Given the description of an element on the screen output the (x, y) to click on. 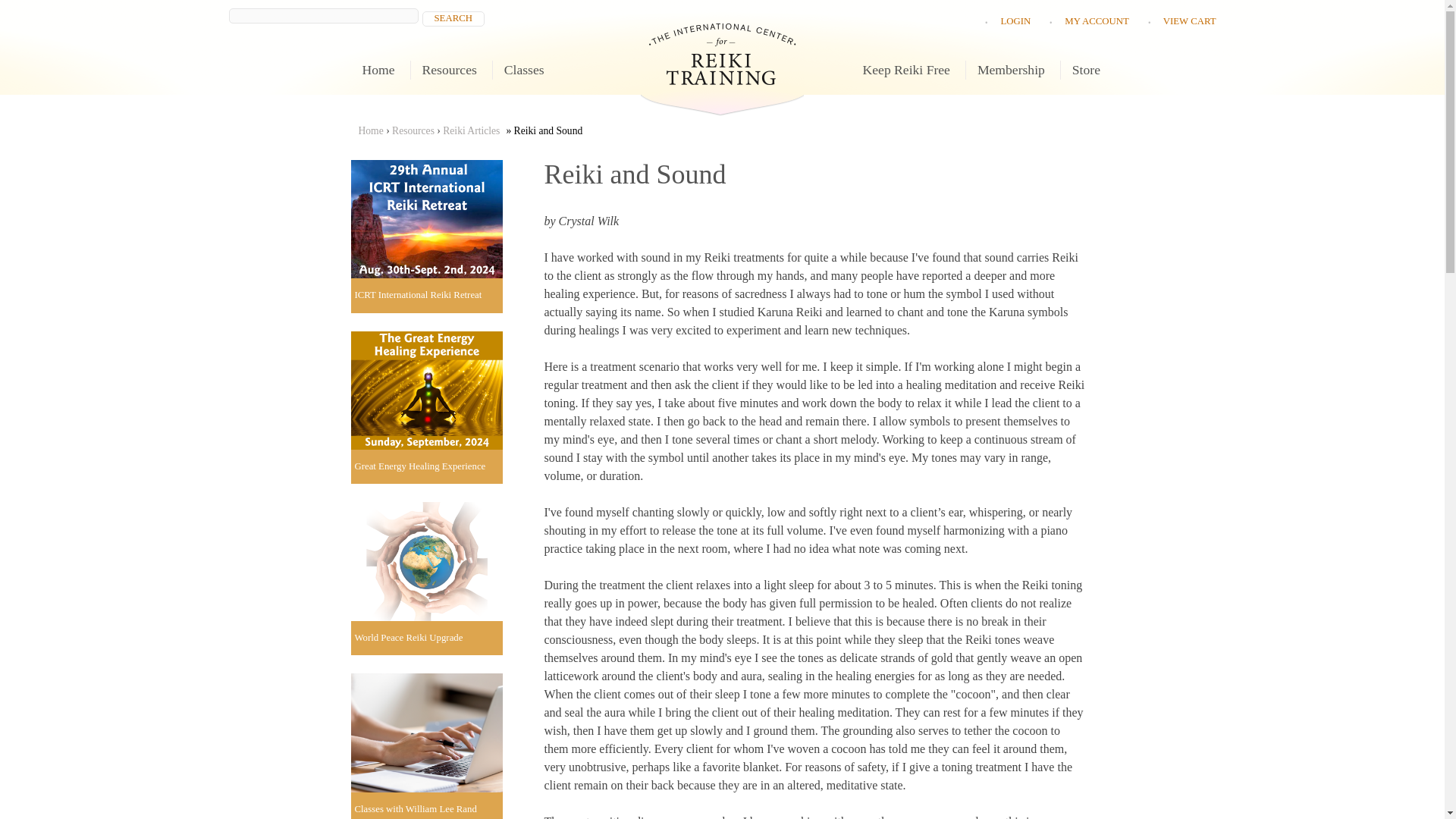
VIEW CART (1189, 20)
Search (453, 17)
View contents of your shopping cart (1189, 20)
Search (453, 17)
View your account (1096, 20)
Log in to your account (1015, 20)
LOGIN (1015, 20)
MY ACCOUNT (1096, 20)
